Given the description of an element on the screen output the (x, y) to click on. 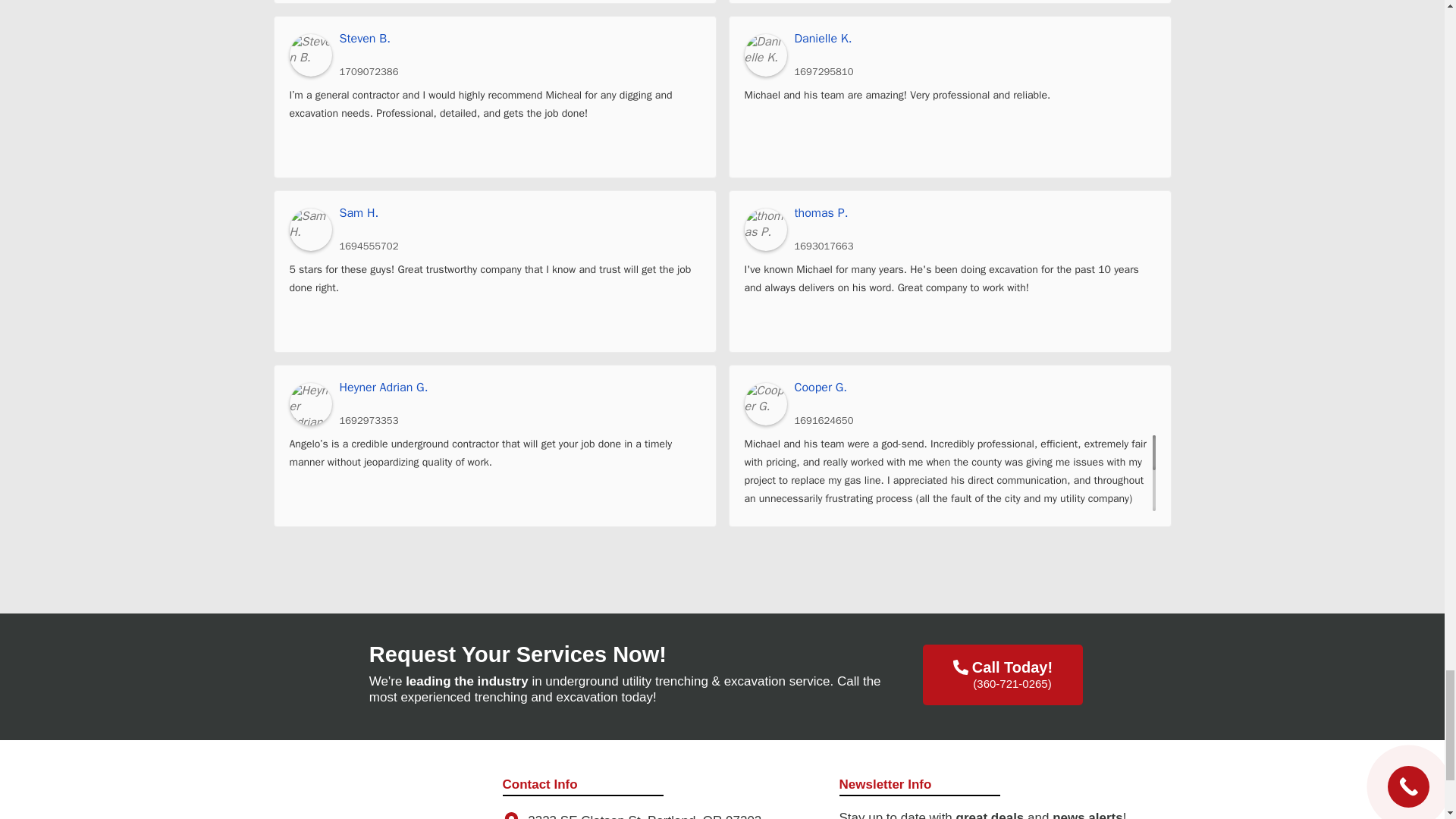
Steven B. (519, 38)
Steven B. (310, 55)
Danielle K. (765, 55)
Danielle K. (975, 38)
Sam H. (310, 229)
